Given the description of an element on the screen output the (x, y) to click on. 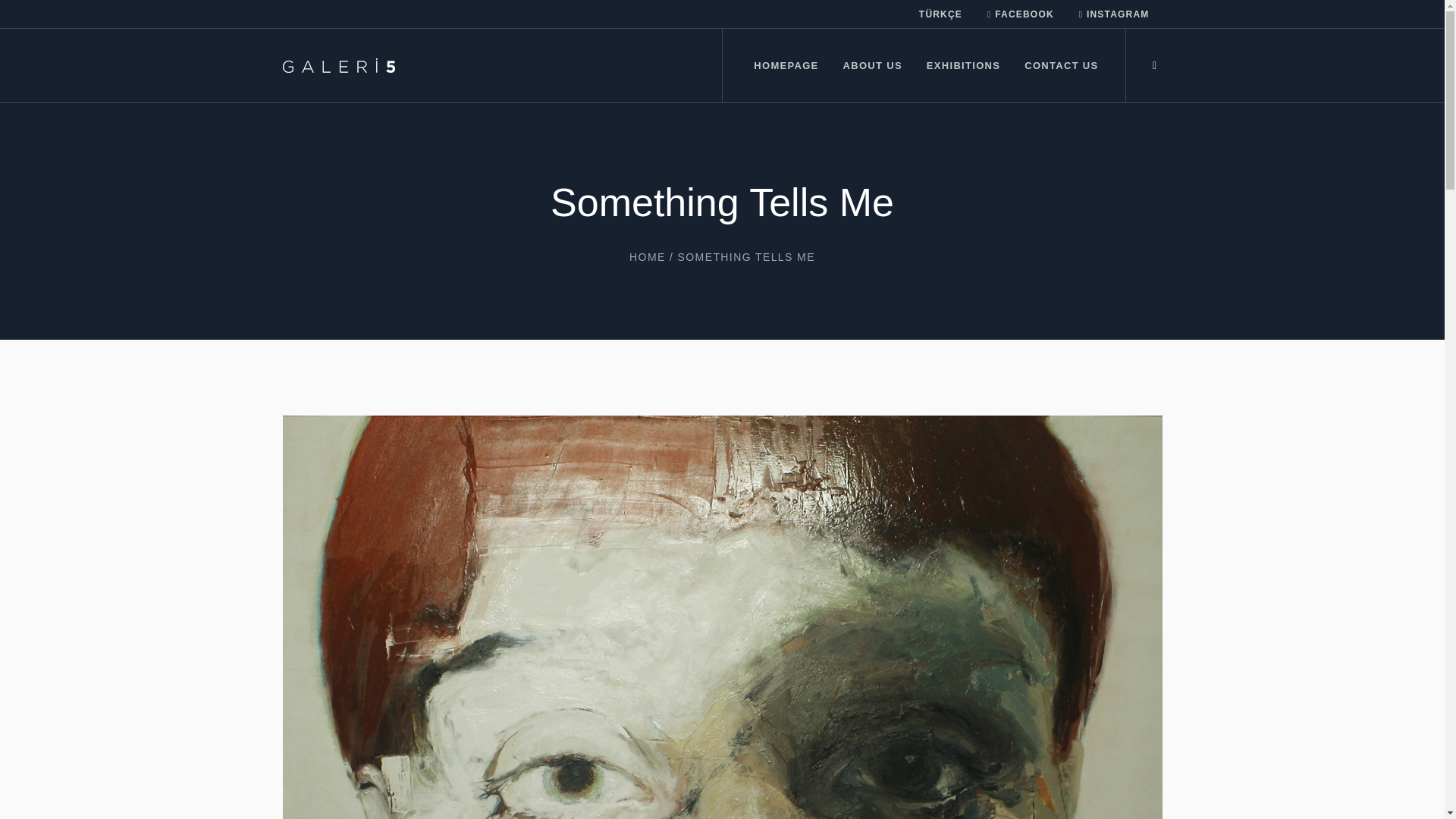
INSTAGRAM (1114, 13)
ABOUT US (872, 65)
HOME (646, 256)
EXHIBITIONS (962, 65)
CONTACT US (1060, 65)
HOMEPAGE (785, 65)
FACEBOOK (1020, 13)
